Given the description of an element on the screen output the (x, y) to click on. 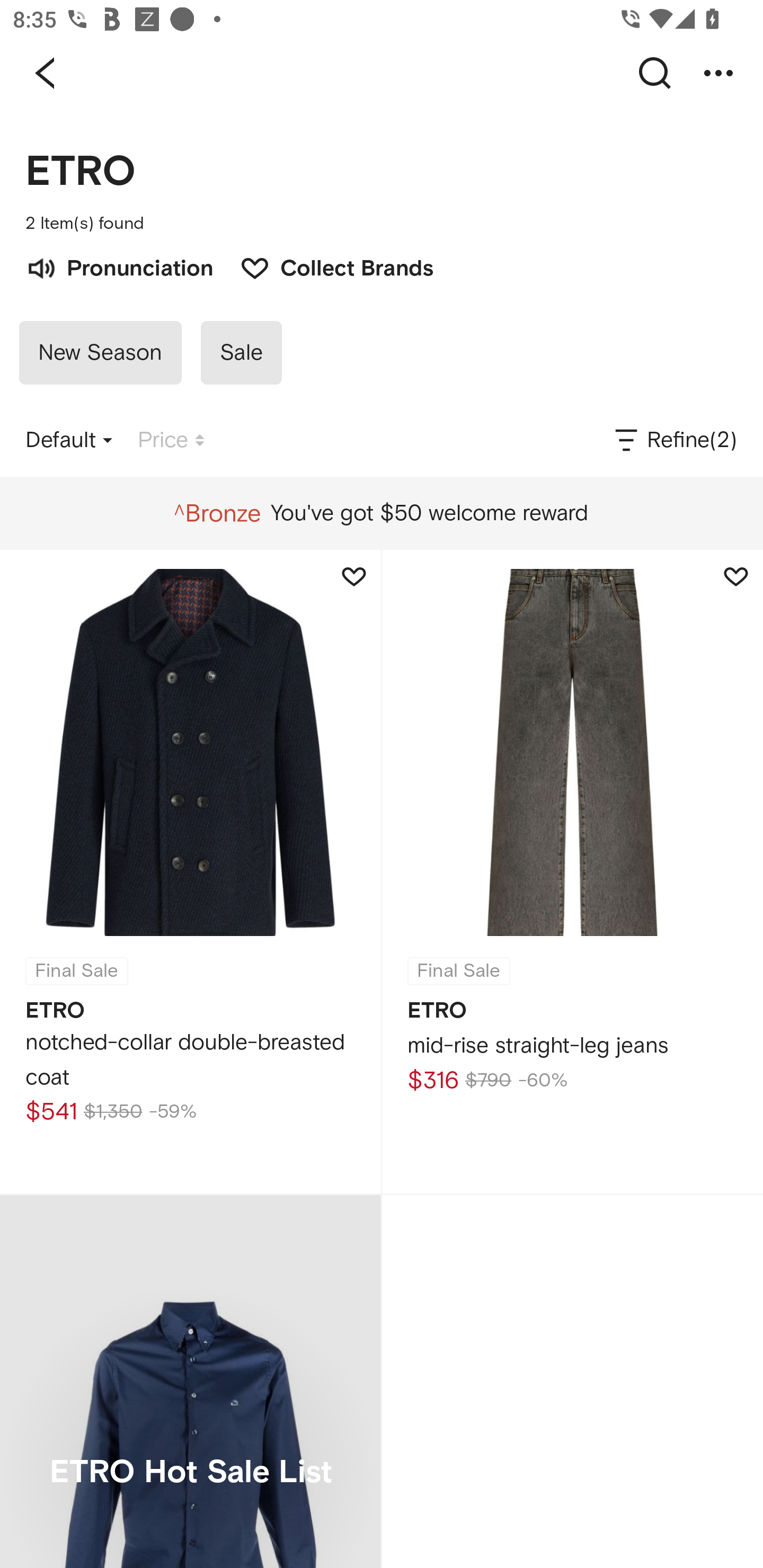
Pronunciation (119, 266)
Collect Brands (327, 266)
New Season (100, 352)
Sale (240, 352)
Default (68, 440)
Price (171, 440)
Refine(2) (674, 440)
You've got $50 welcome reward (381, 513)
ETRO Hot Sale List (190, 1381)
